Given the description of an element on the screen output the (x, y) to click on. 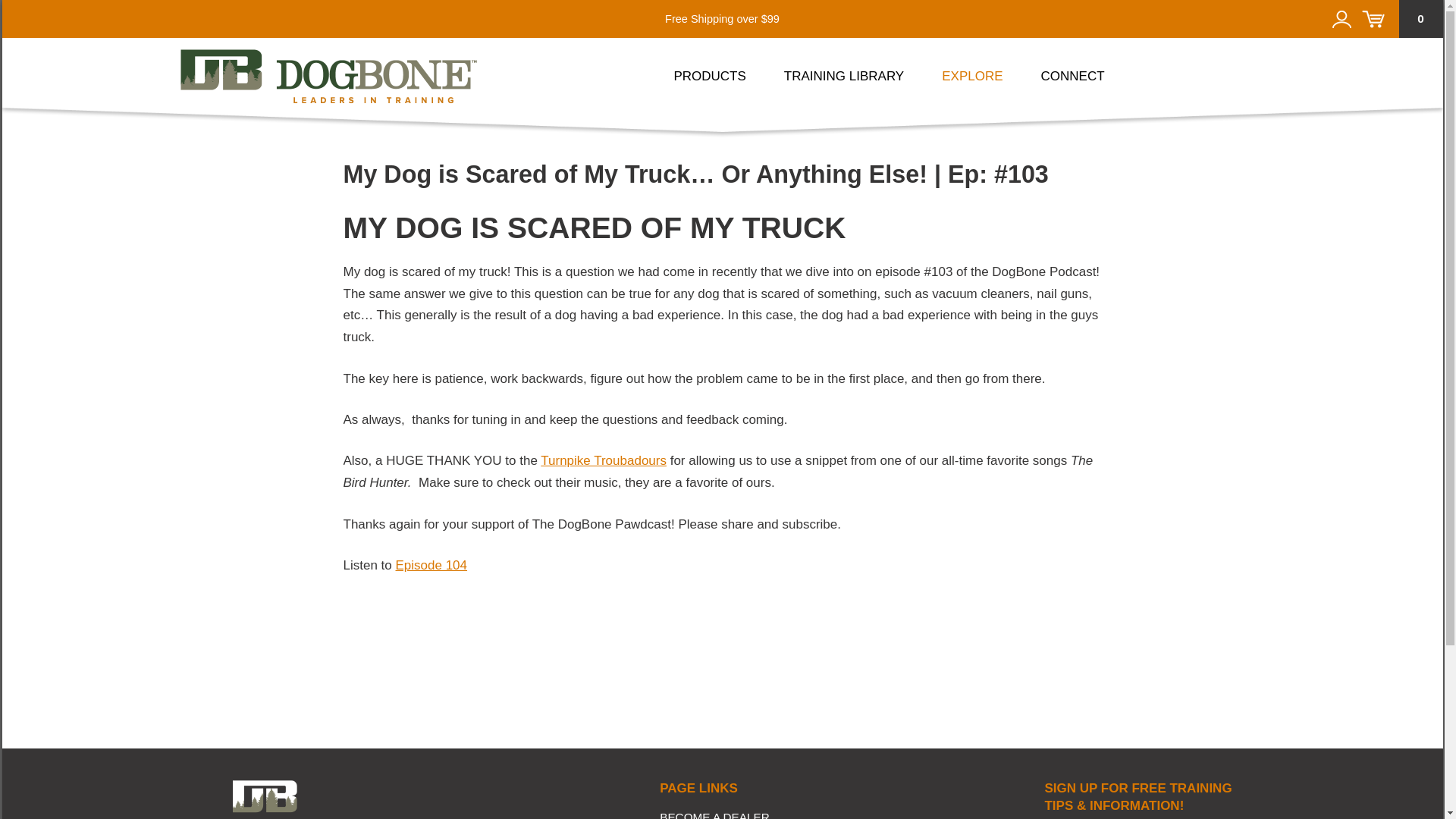
PRODUCTS (708, 72)
my dog is scared of everything (431, 564)
TRAINING LIBRARY (844, 72)
EXPLORE (972, 72)
CONNECT (1073, 72)
